Given the description of an element on the screen output the (x, y) to click on. 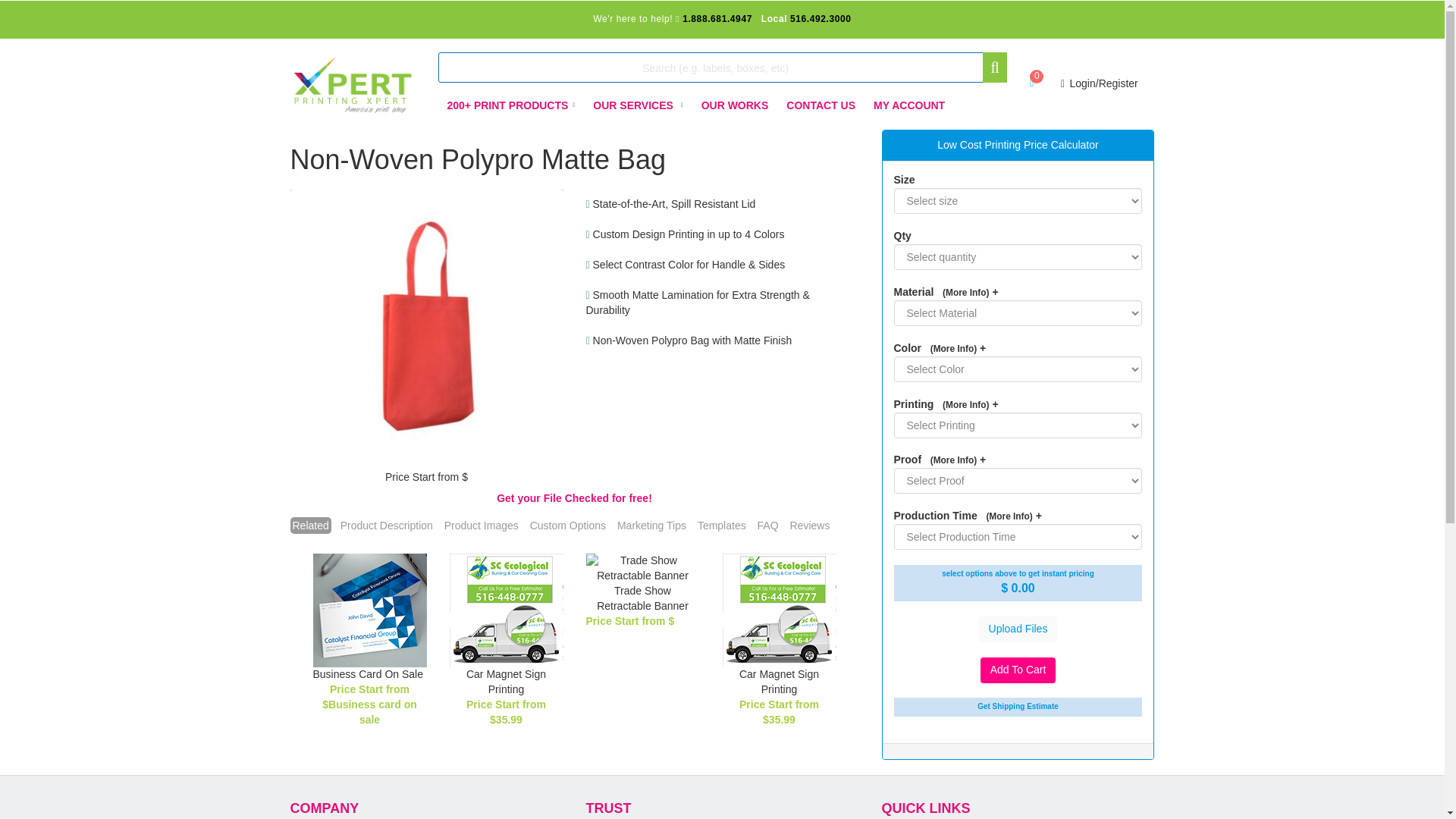
Contact Us (821, 105)
Custom Options (567, 524)
1.888.681.4947 (717, 18)
FAQ (767, 524)
Add To Cart (1018, 670)
Our Works (734, 105)
Related (309, 524)
Product Images (481, 524)
Templates (721, 524)
Upload Files (1018, 629)
Our Services (637, 105)
OUR WORKS (734, 105)
Get your File Checked for free! (574, 498)
516.492.3000 (820, 18)
Product Description (386, 524)
